Given the description of an element on the screen output the (x, y) to click on. 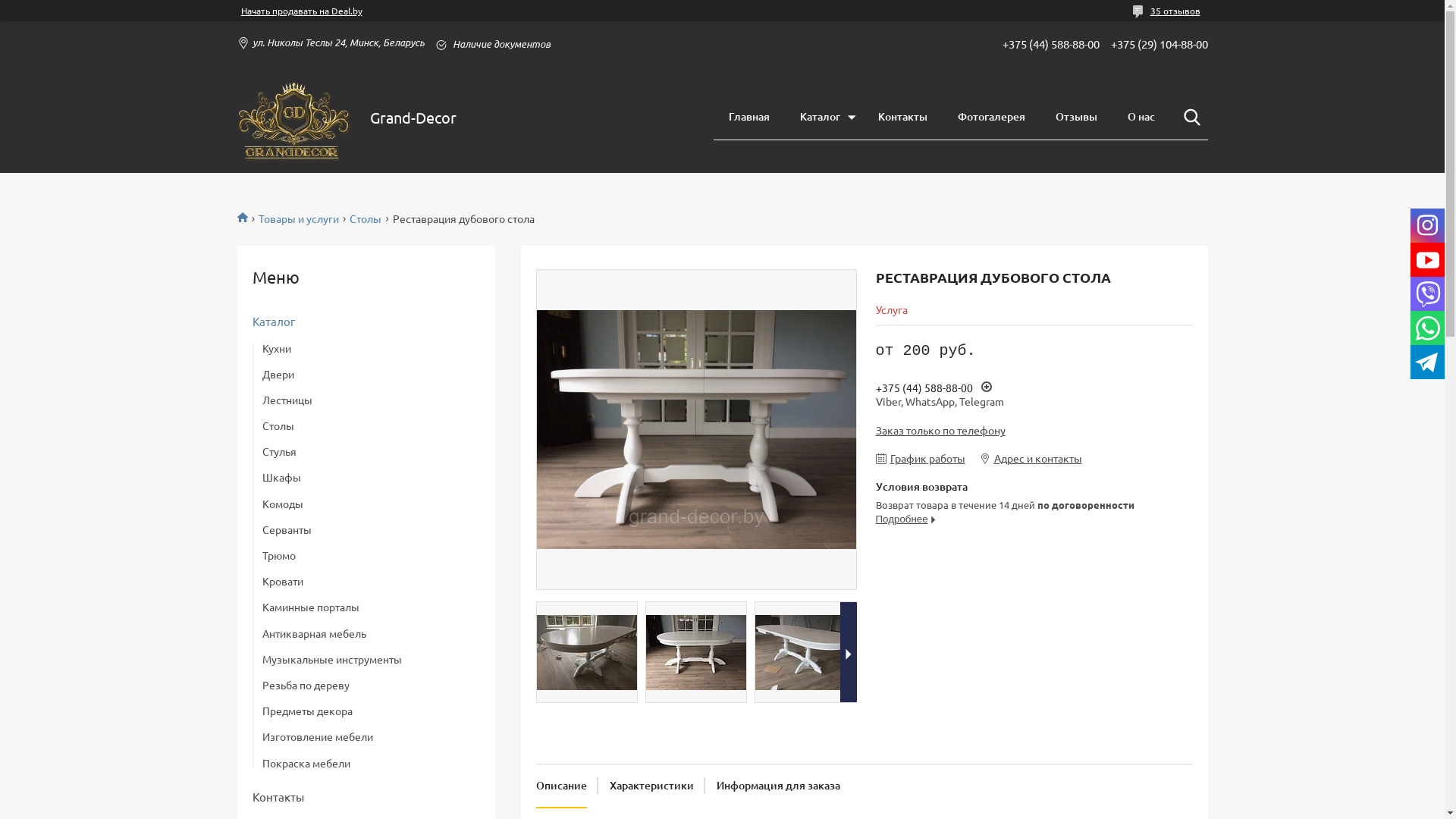
Grand Decor Element type: hover (293, 117)
Grand decor Element type: hover (246, 216)
